Given the description of an element on the screen output the (x, y) to click on. 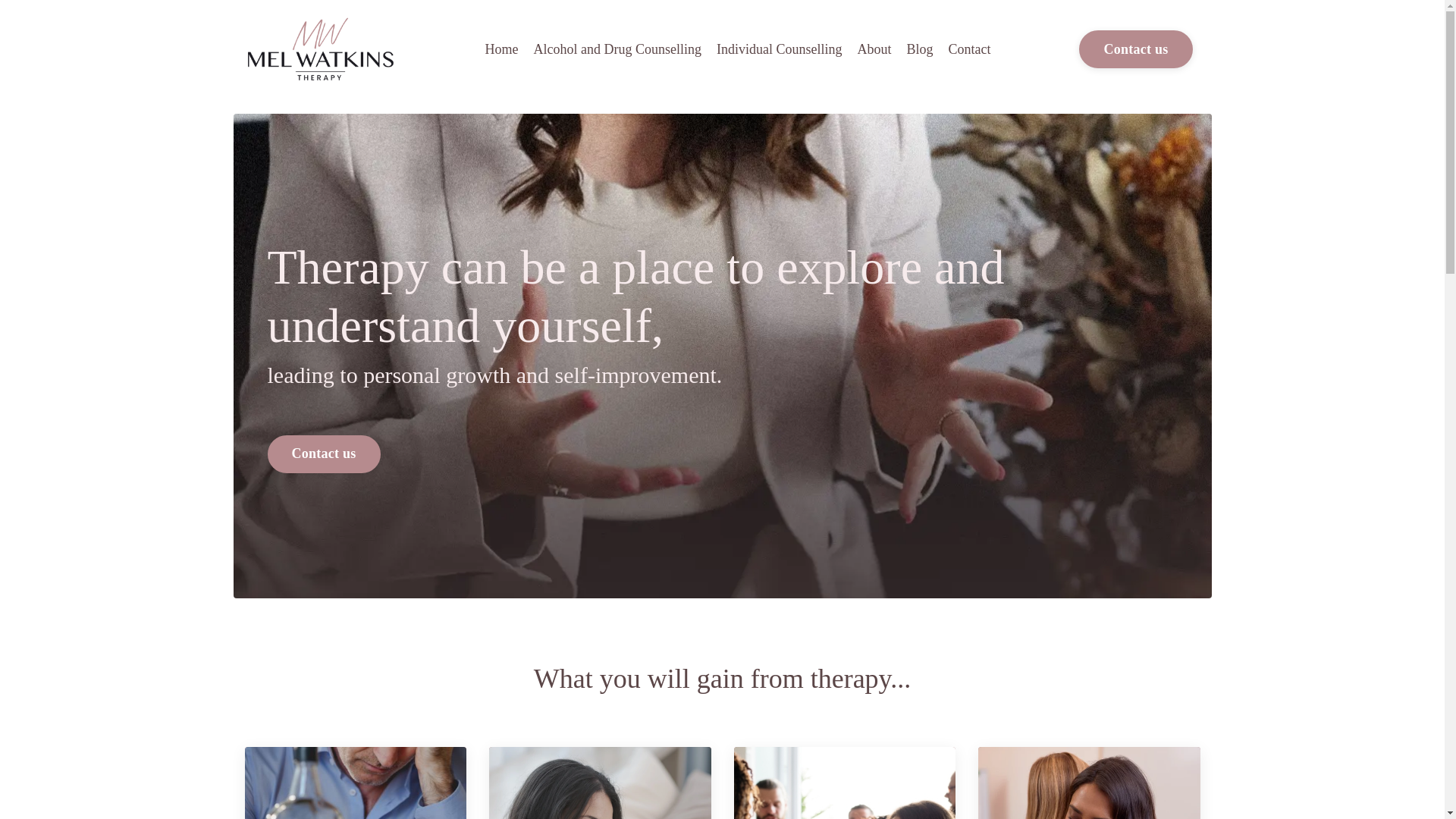
Contact (968, 49)
Individual Counselling (779, 49)
Contact us (1135, 48)
Alcohol and Drug Counselling (616, 49)
About (874, 49)
Home (501, 49)
Contact us (323, 453)
Blog (919, 49)
